Given the description of an element on the screen output the (x, y) to click on. 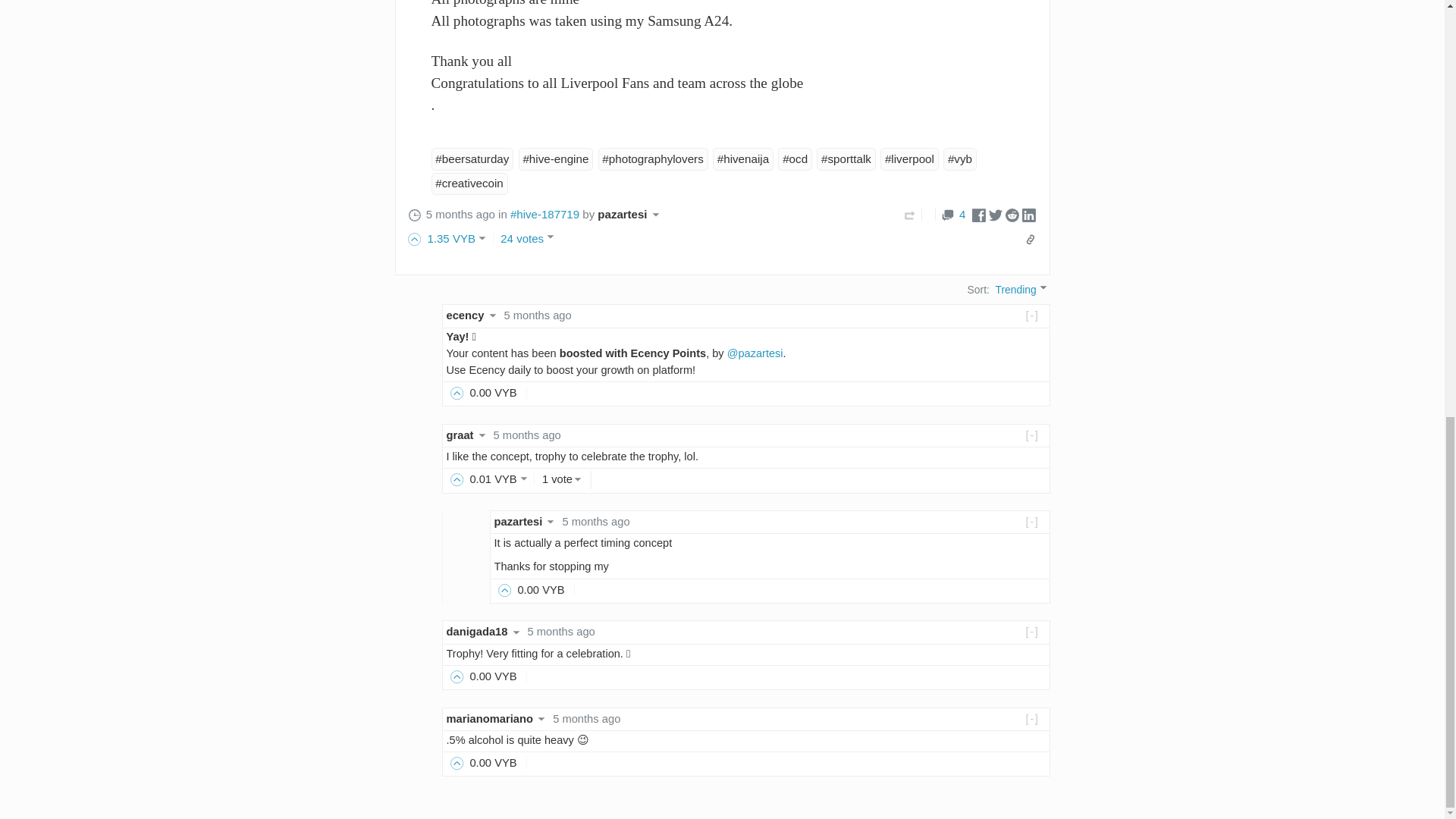
4 Responses (953, 214)
Share on Facebook (978, 214)
24 votes (528, 237)
Share on Twitter (995, 214)
Share on Reddit (1012, 214)
1.35 VYB (453, 237)
Share on Linkedin (1028, 214)
Share this post (1029, 239)
pazartesi (629, 214)
